Given the description of an element on the screen output the (x, y) to click on. 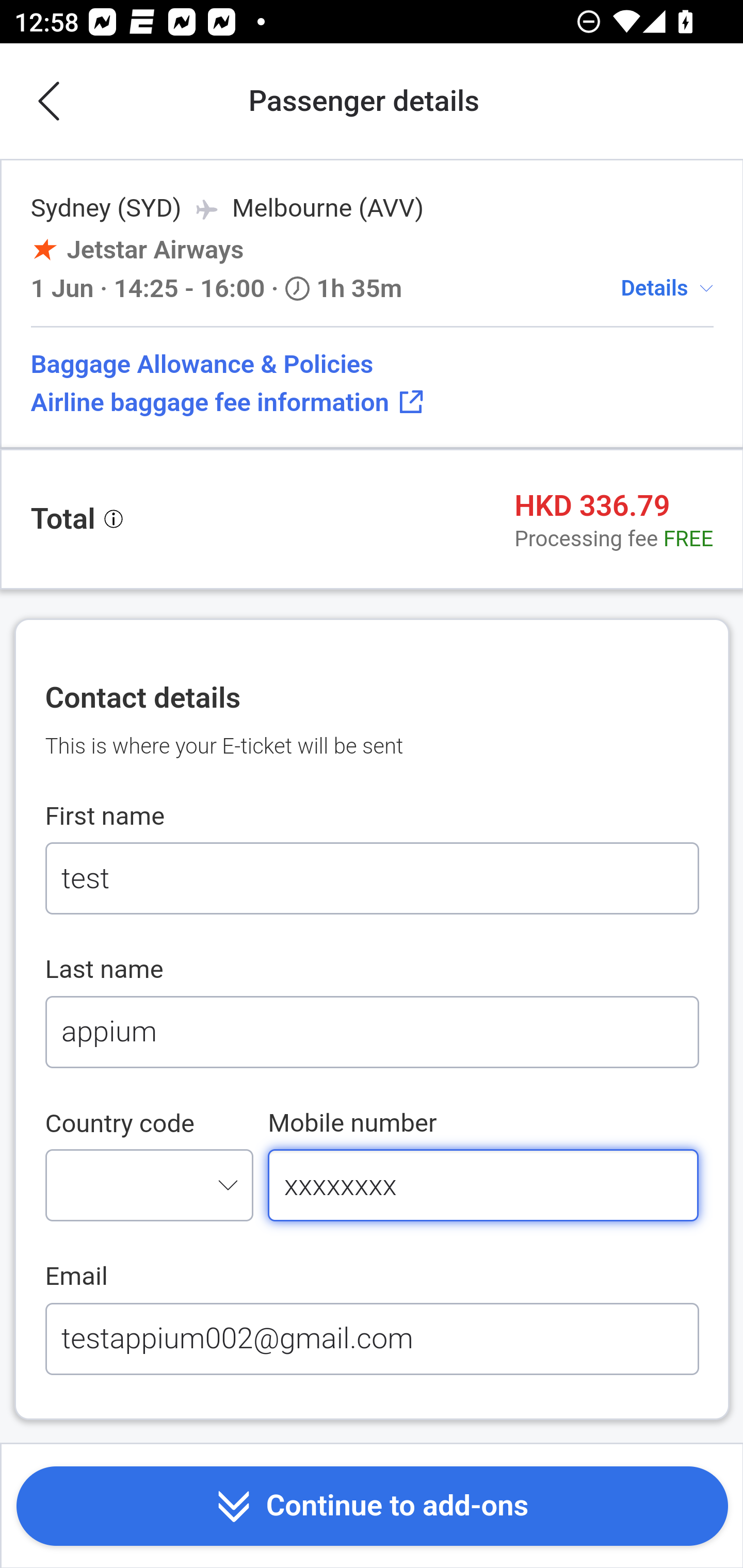
Back (51, 101)
Details (654, 287)
Baggage Allowance & Policies (371, 364)
Airline baggage fee information (371, 401)
Total HKD 336.79 Processing fee FREE (371, 518)
test (371, 878)
appium (371, 1031)
xxxxxxxx (483, 1184)
testappium002@gmail.com (371, 1338)
Continue to add-ons (371, 1506)
